Given the description of an element on the screen output the (x, y) to click on. 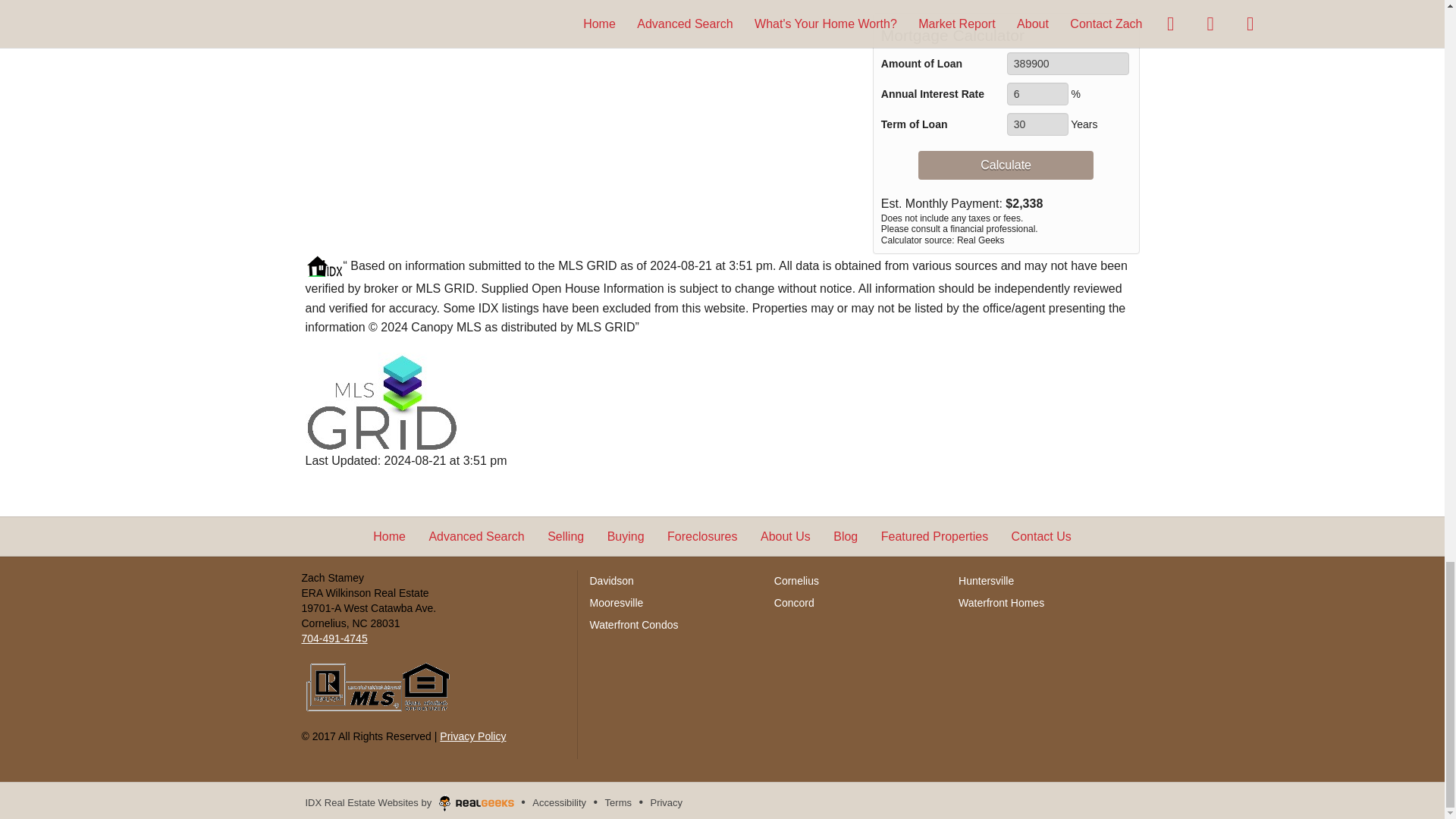
389900 (1068, 63)
30 (1037, 124)
6 (1037, 93)
